Given the description of an element on the screen output the (x, y) to click on. 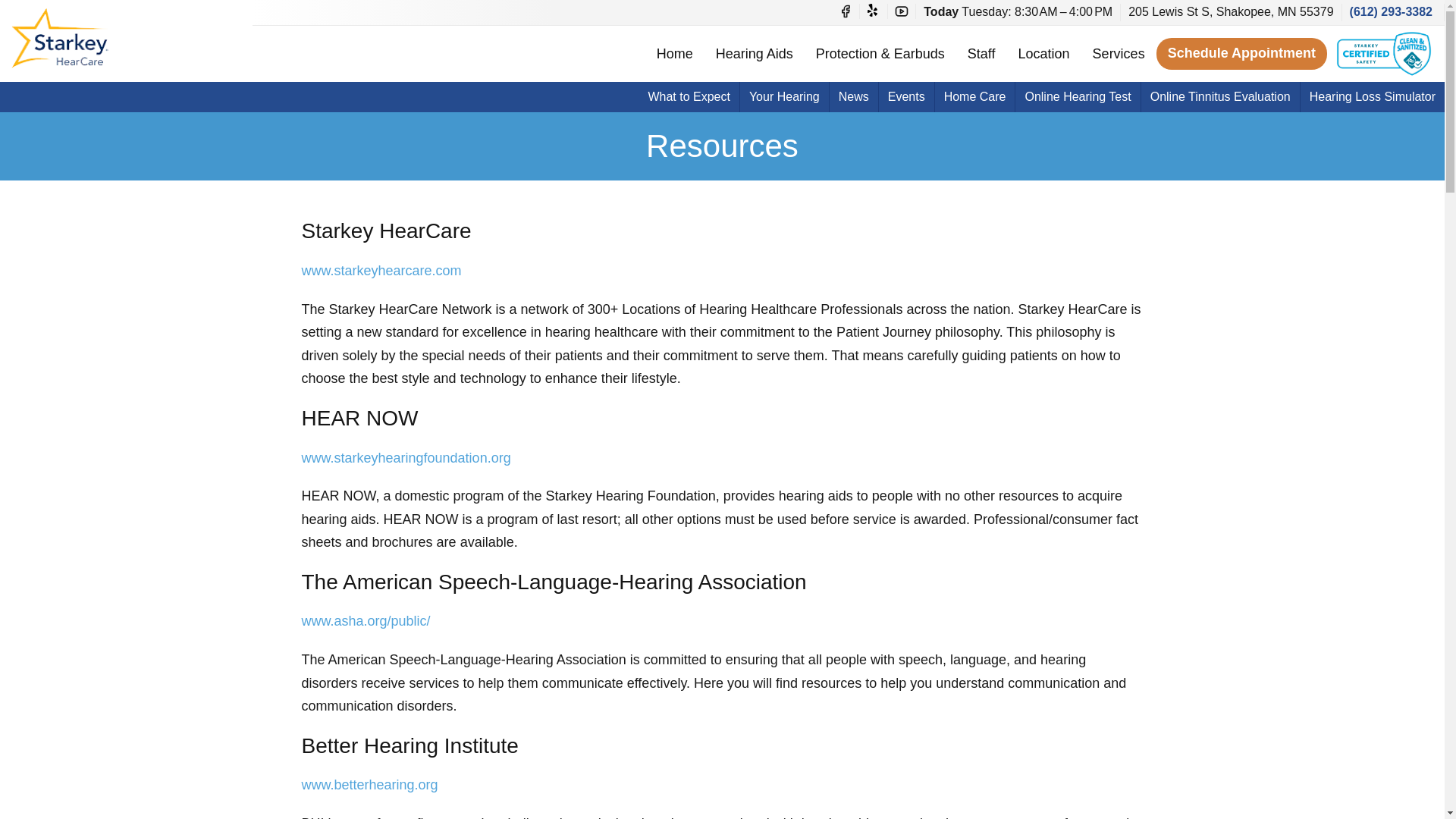
Location (1044, 53)
www.betterhearing.org (369, 784)
Starkey HearCare Youtube (900, 11)
homepage (84, 37)
Staff (981, 53)
What to Expect (689, 96)
Your Hearing (783, 96)
Hearing Aids (754, 53)
Events (906, 96)
www.starkeyhearcare.com (381, 270)
Schedule Appointment (1241, 53)
News (853, 96)
Home Care (974, 96)
www.starkeyhearingfoundation.org (406, 458)
Online Hearing Test (1077, 96)
